Given the description of an element on the screen output the (x, y) to click on. 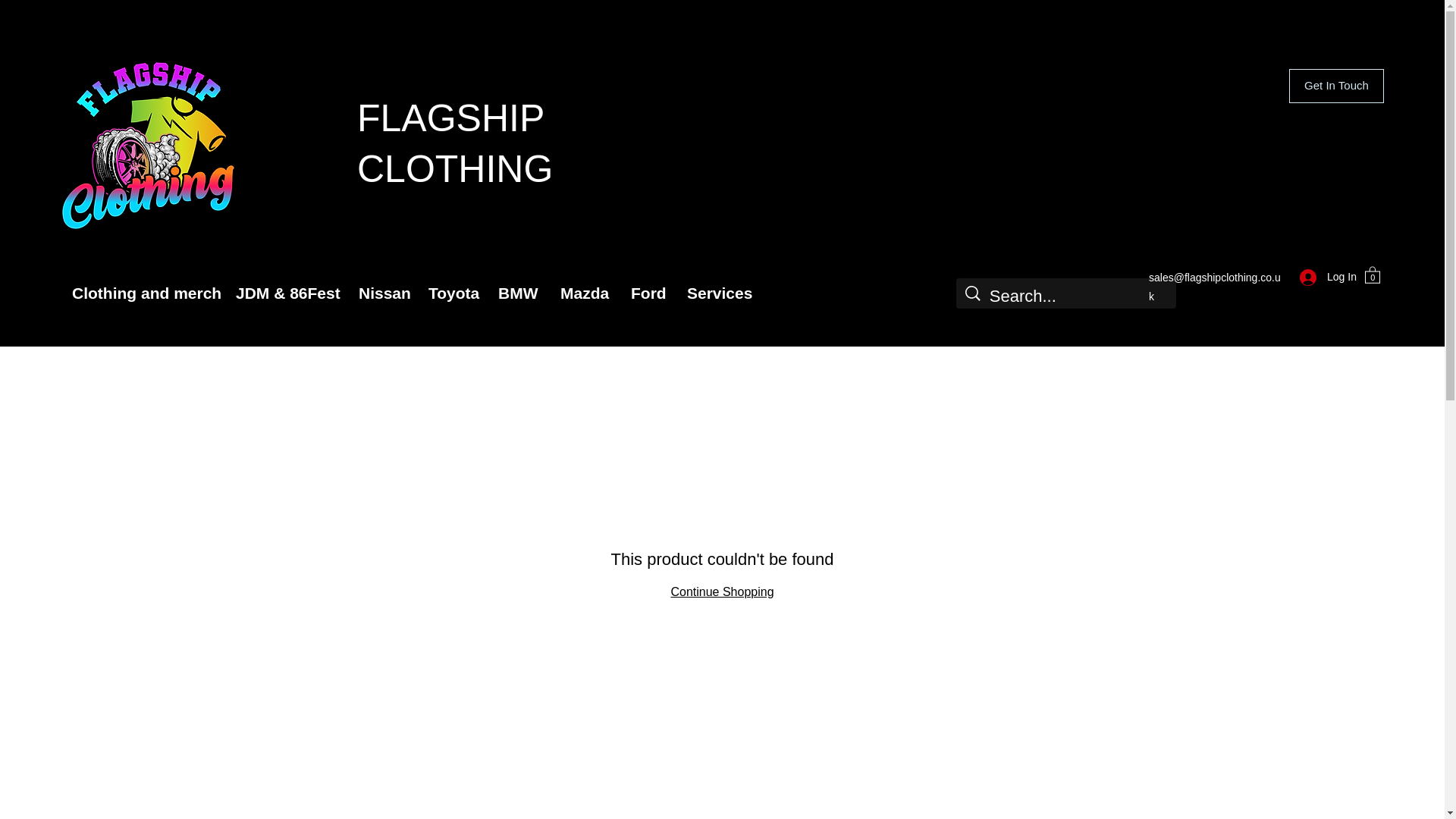
Services (716, 293)
Continue Shopping (721, 591)
BMW (517, 293)
Clothing and merch (142, 293)
Log In (1322, 276)
Mazda (584, 293)
Ford (647, 293)
FLAGSHIP CLOTHING (454, 143)
Nissan (381, 293)
Toyota (451, 293)
